Given the description of an element on the screen output the (x, y) to click on. 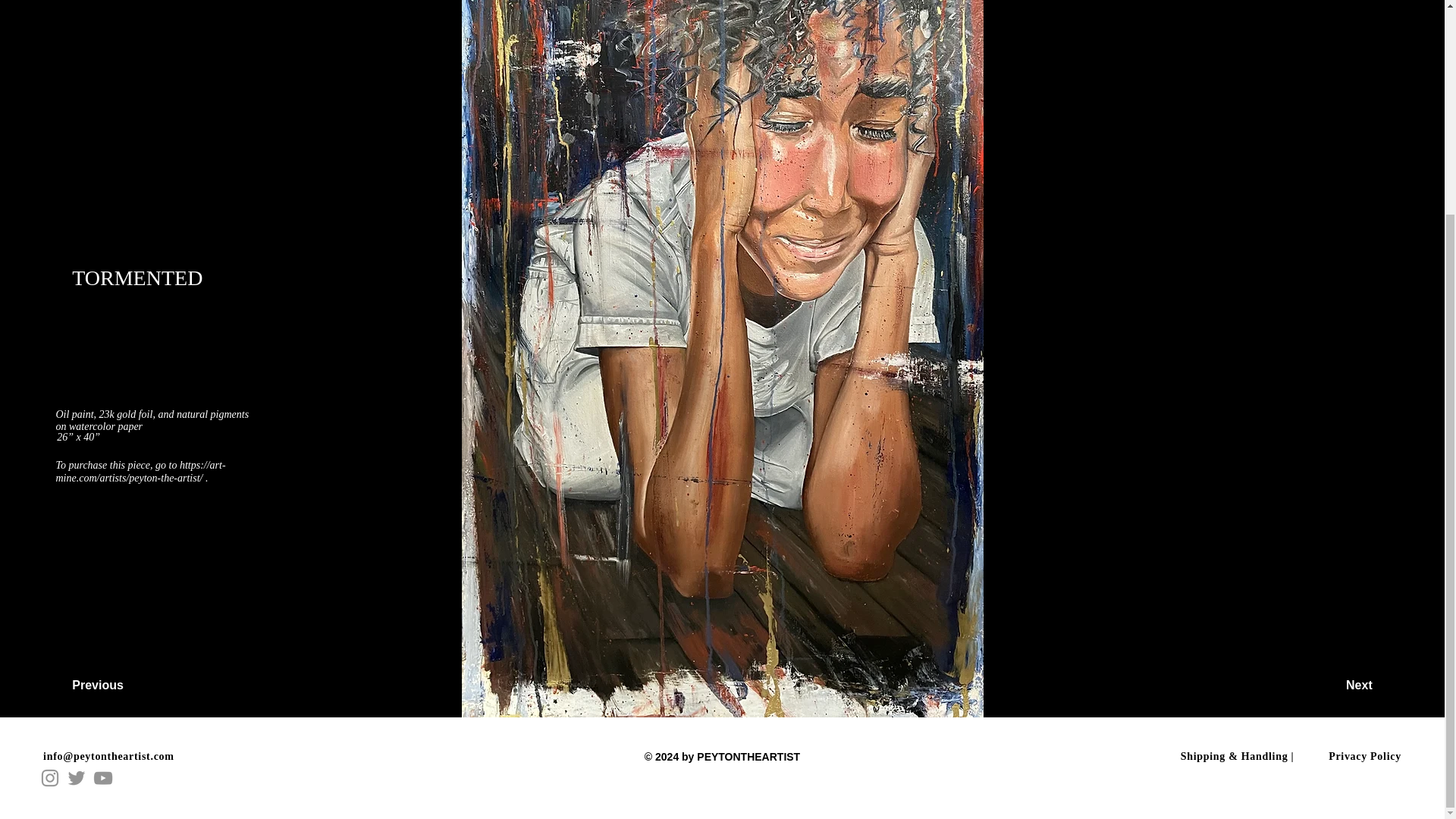
Privacy Policy (1363, 756)
Previous (125, 685)
Next (1319, 685)
